Given the description of an element on the screen output the (x, y) to click on. 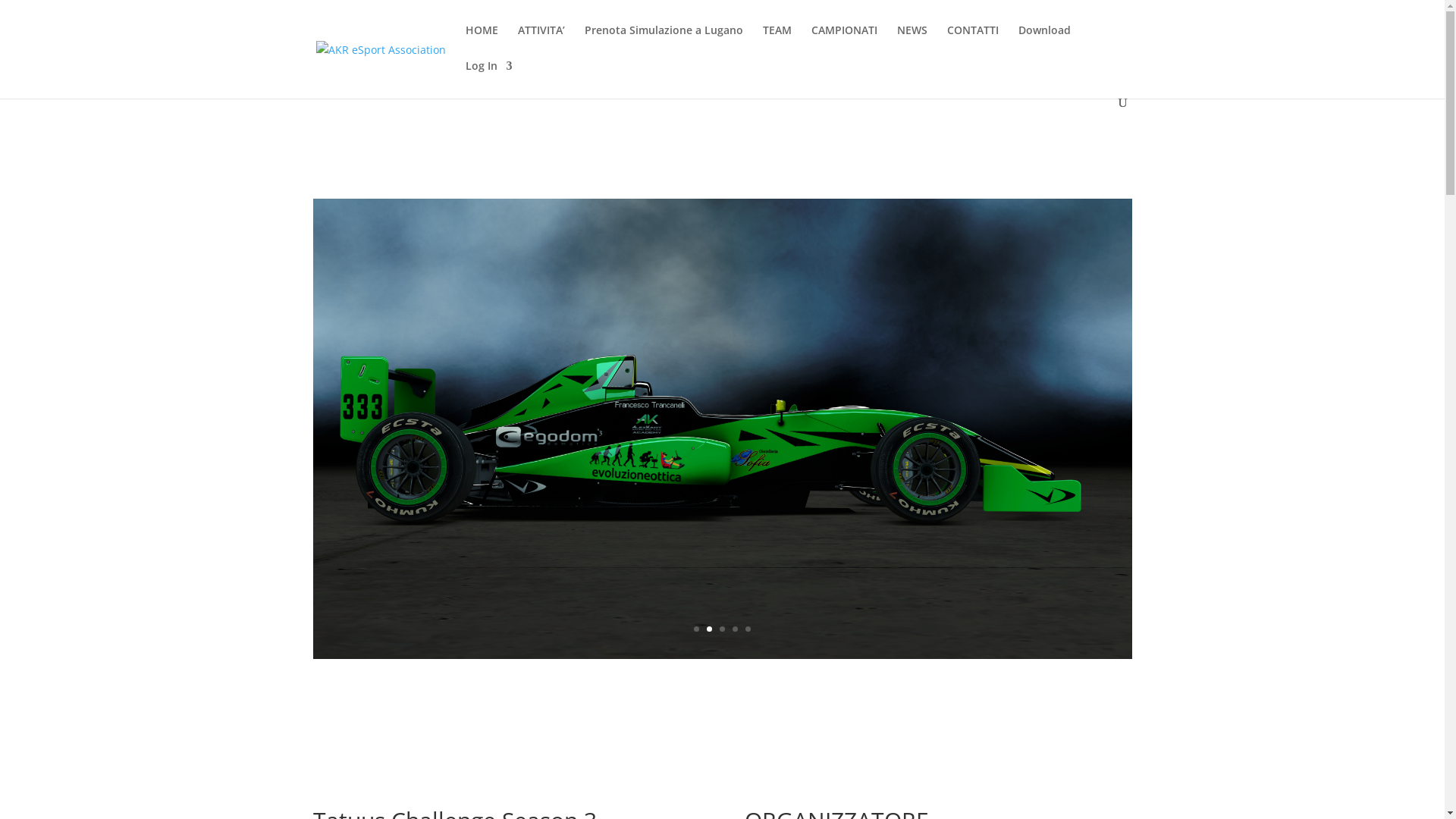
3 Element type: text (721, 628)
CAMPIONATI Element type: text (844, 42)
Prenota Simulazione a Lugano Element type: text (662, 42)
1 Element type: text (696, 628)
NEWS Element type: text (911, 42)
TEAM Element type: text (776, 42)
TATUUS 201800003 Element type: hover (721, 658)
HOME Element type: text (481, 42)
4 Element type: text (734, 628)
Download Element type: text (1043, 42)
CONTATTI Element type: text (971, 42)
5 Element type: text (747, 628)
Log In Element type: text (488, 78)
2 Element type: text (709, 628)
